Given the description of an element on the screen output the (x, y) to click on. 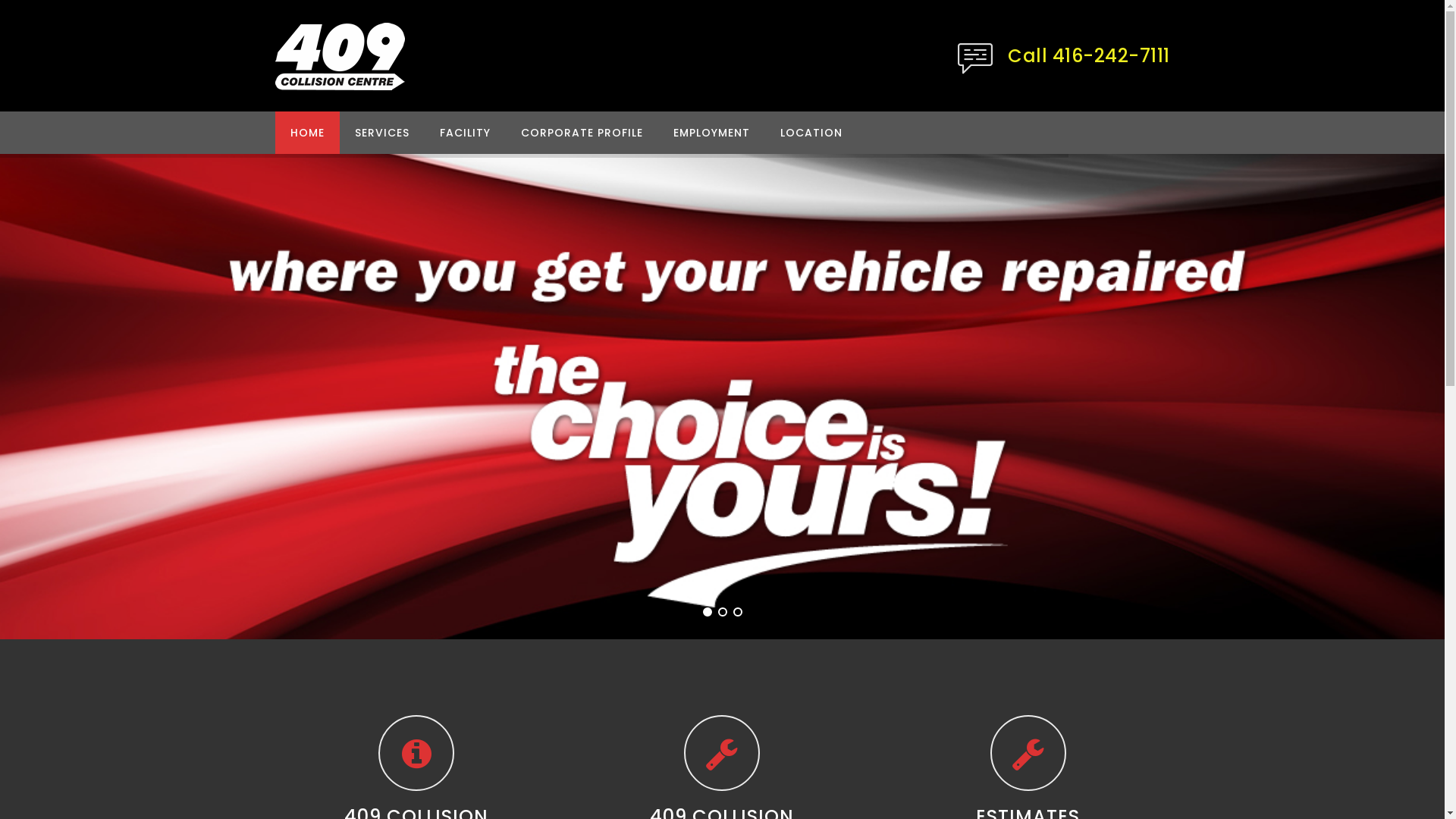
LOCATION Element type: text (810, 132)
Call 416-242-7111 Element type: text (1088, 55)
HOME Element type: text (306, 132)
CarBest Element type: hover (339, 54)
FACILITY Element type: text (464, 132)
EMPLOYMENT Element type: text (711, 132)
CORPORATE PROFILE Element type: text (581, 132)
SERVICES Element type: text (381, 132)
